Given the description of an element on the screen output the (x, y) to click on. 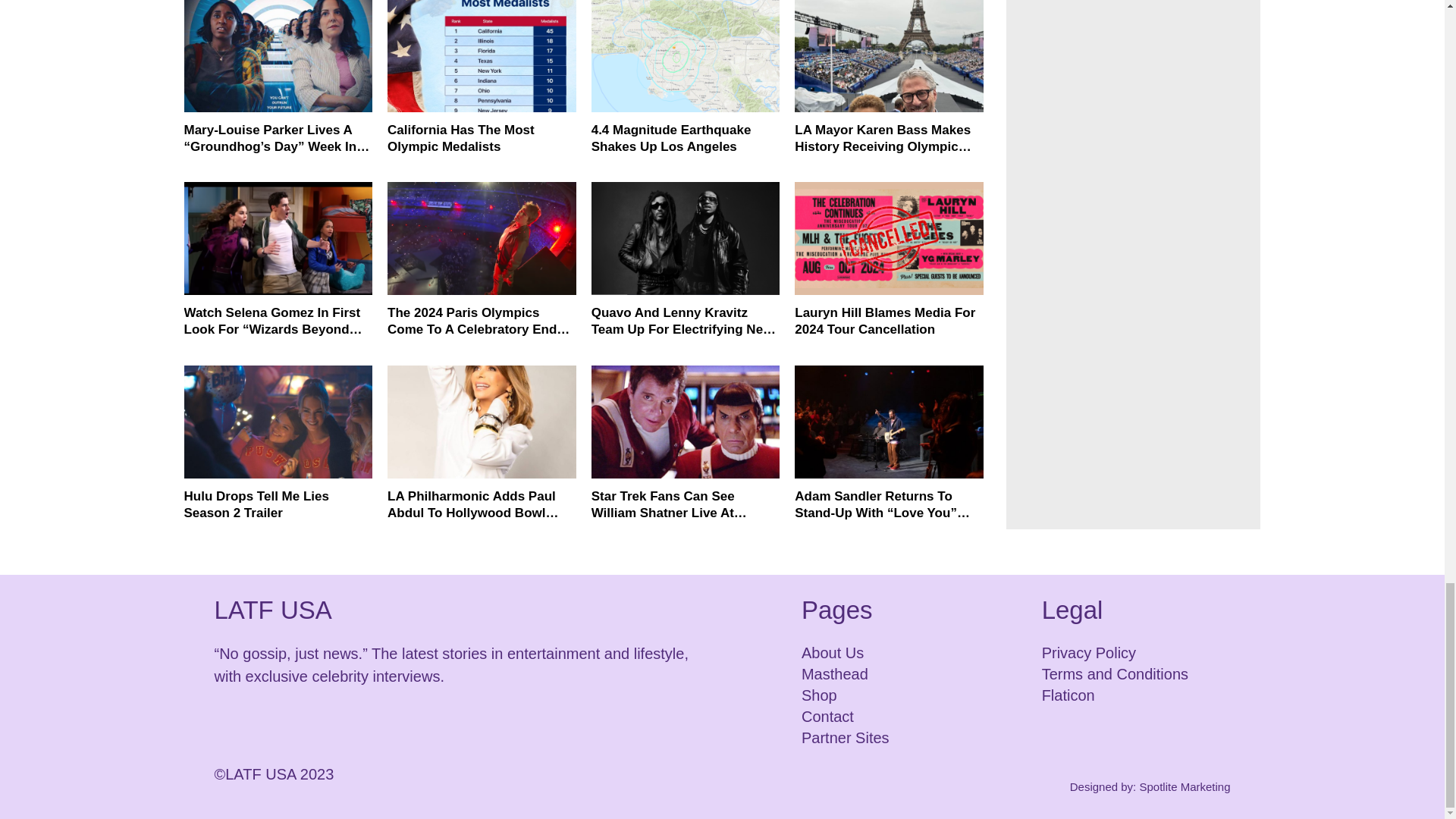
olympic medalists (481, 56)
Paula Abdul Hollywood Bowl (481, 421)
tar sTrek V: The Final Frontier and william shatner (685, 421)
TELL ME LIES (277, 421)
tom cruise olympics (481, 237)
adam sandler stand up comedy (889, 421)
4.4 earthquake los angeles (685, 56)
los angeles mayor karen bass olympics 2028 (889, 56)
lauryn (889, 237)
